Given the description of an element on the screen output the (x, y) to click on. 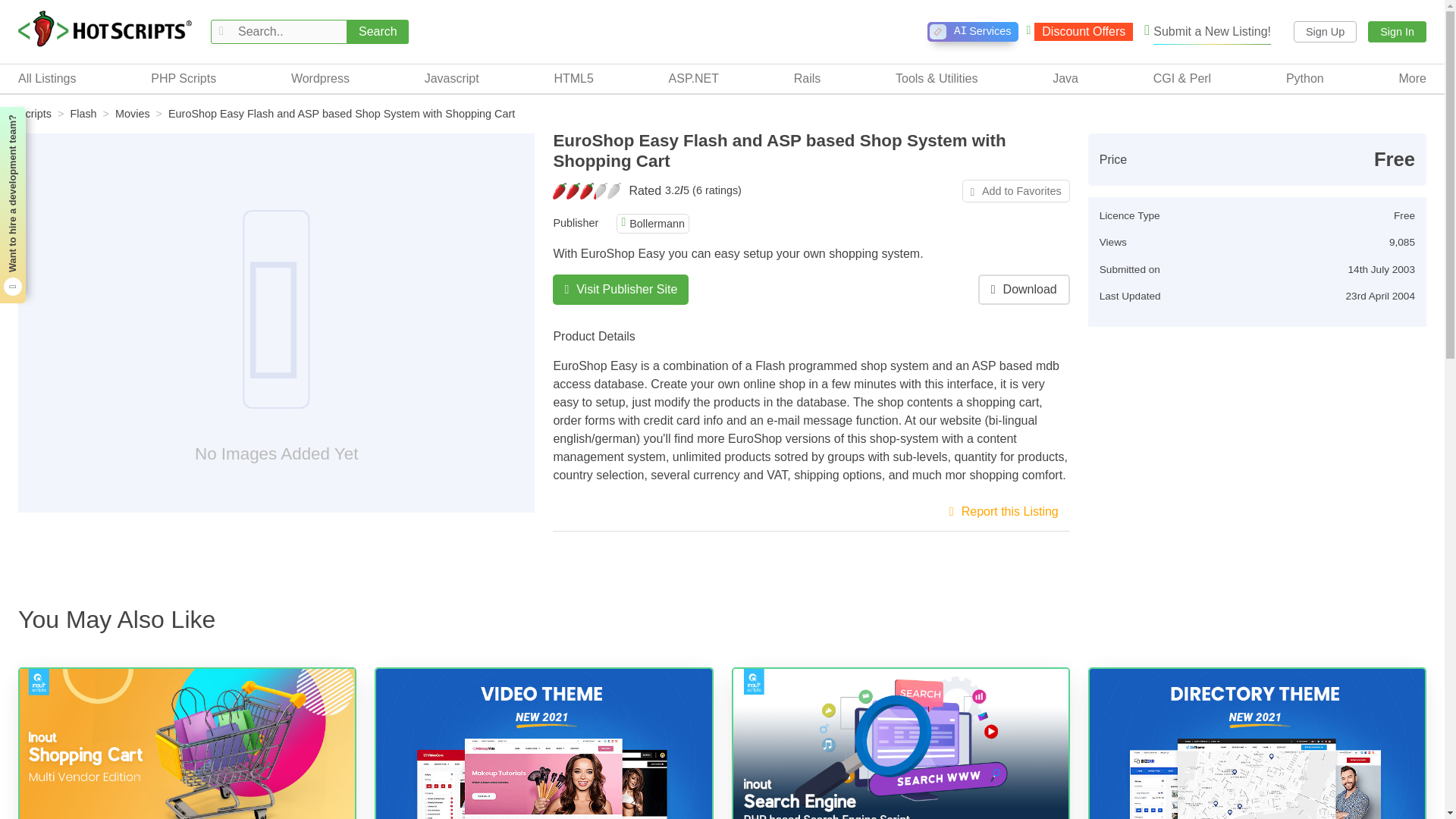
Submit a New Listing! (1207, 31)
Discount Offers (1079, 31)
Visit Listing - Inout Shopping Cart - Multi Vendor Edition (187, 744)
Sign In (1397, 31)
HotScripts (104, 29)
Search (378, 31)
Sign Up (1325, 31)
Visit Listing - Inout Search Engine Script (899, 744)
PHP Scripts (183, 78)
All Listings (972, 31)
